Given the description of an element on the screen output the (x, y) to click on. 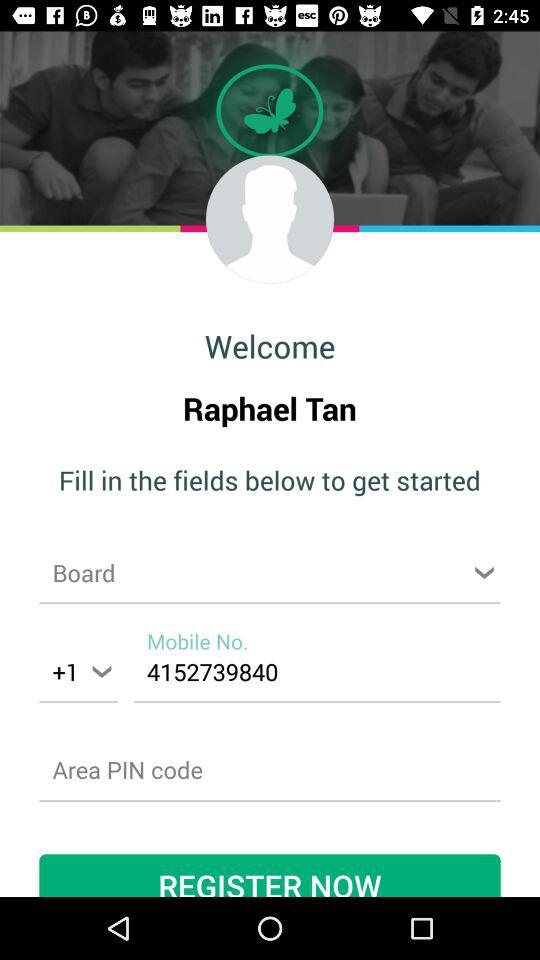
add profile pic (269, 219)
